Given the description of an element on the screen output the (x, y) to click on. 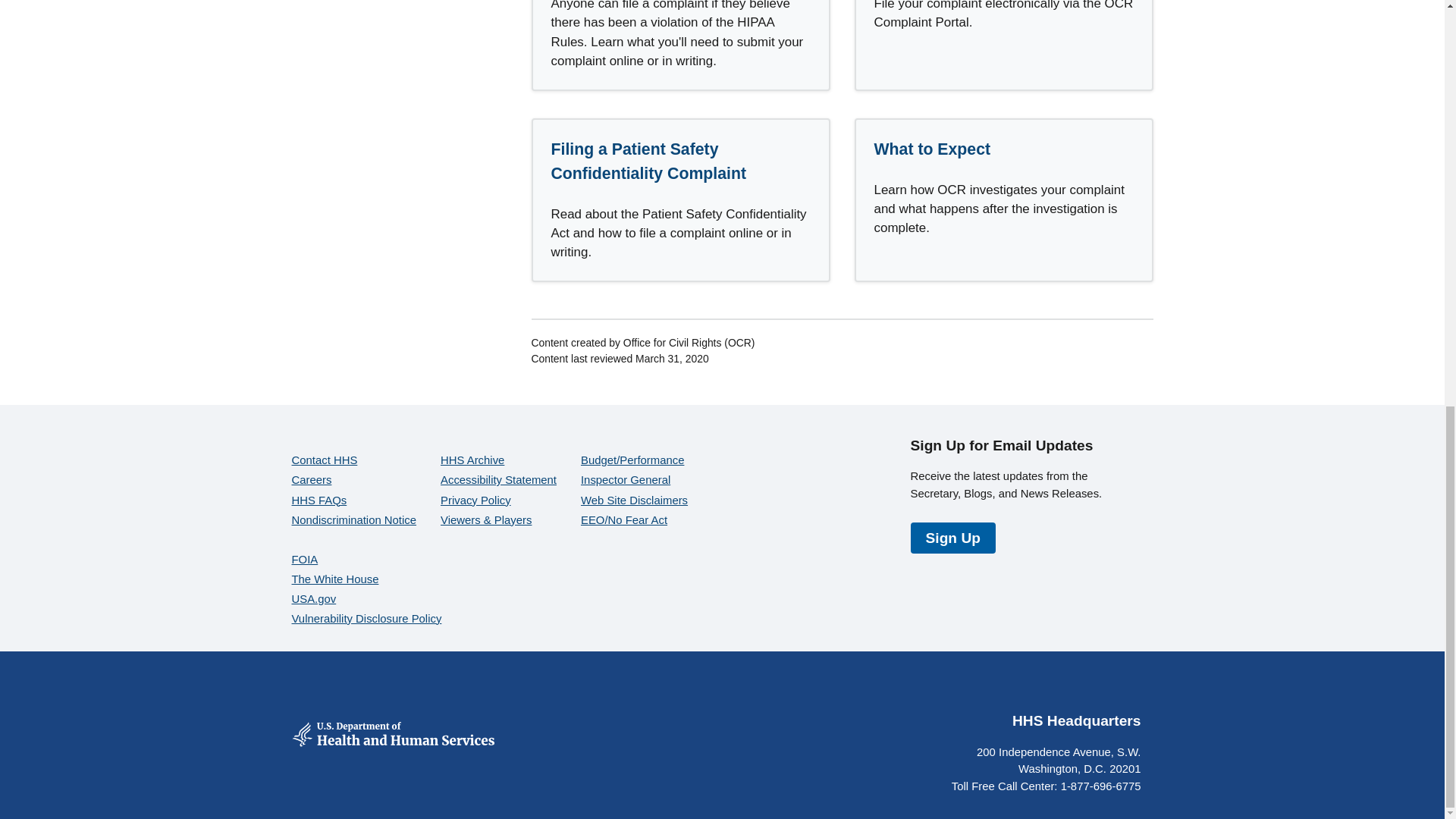
Visit the HHS Facebook account (982, 687)
HHS Archive (472, 460)
Careers (311, 480)
Visit the HHS Instagram account (1091, 687)
Visit the HHS YouTube account (1055, 687)
Visit the HHS X account (1018, 687)
Contact HHS (323, 460)
Visit the HHS LinkedIn account (1128, 687)
HHS FAQs (318, 499)
Nondiscrimination Notice (353, 520)
What to Expect (931, 149)
Filing a Patient Safety Confidentiality Complaint (647, 161)
